Given the description of an element on the screen output the (x, y) to click on. 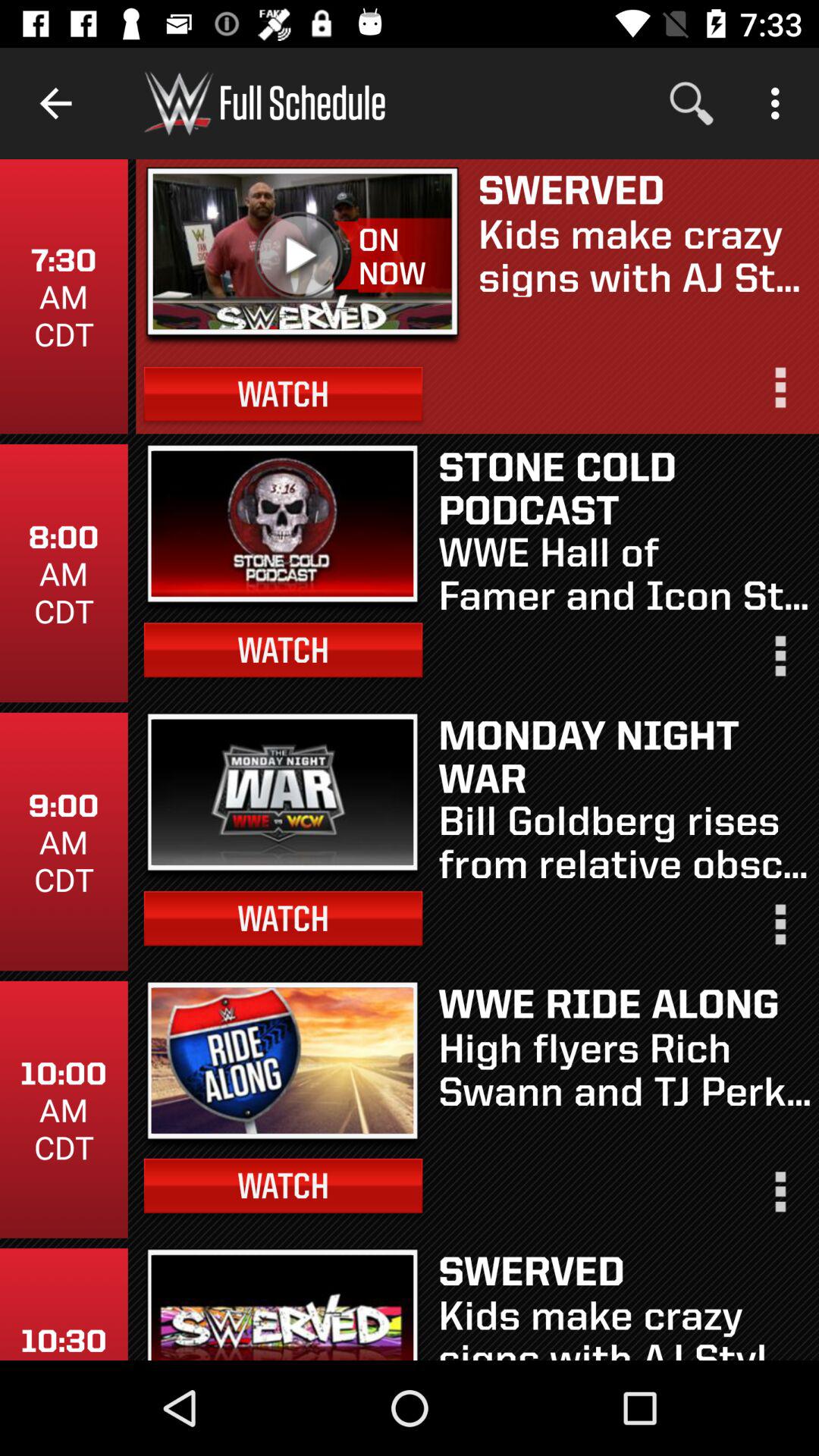
play video (301, 251)
